Given the description of an element on the screen output the (x, y) to click on. 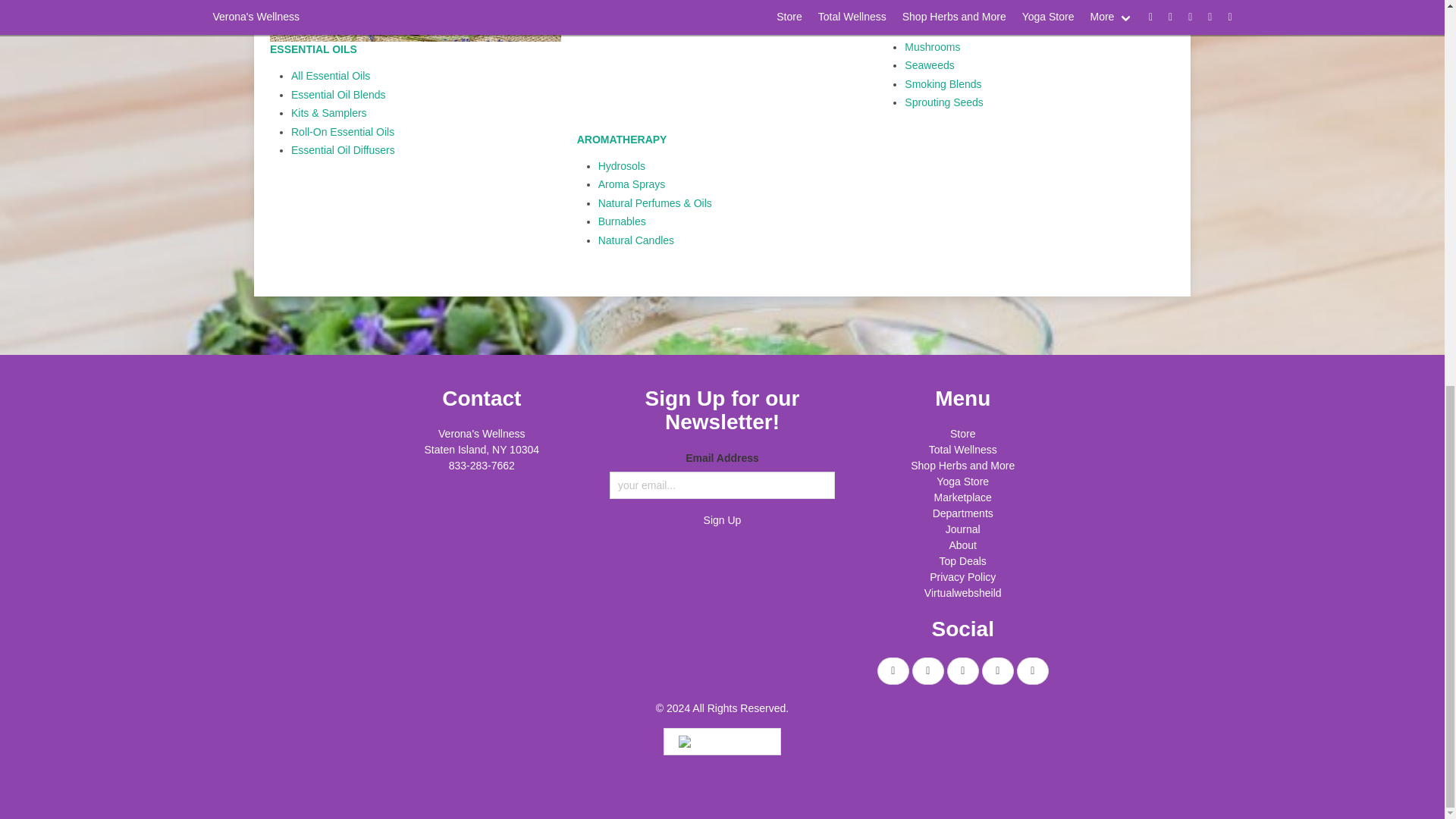
Sign Up (722, 519)
Powered by Dataczar (721, 741)
Facebook (892, 670)
Twitter (927, 670)
Essential Oil Blends (338, 94)
All Essential Oils (330, 75)
LinkedIn (1032, 670)
ESSENTIAL OILS (312, 49)
Instagram (962, 670)
Youtube (997, 670)
